Given the description of an element on the screen output the (x, y) to click on. 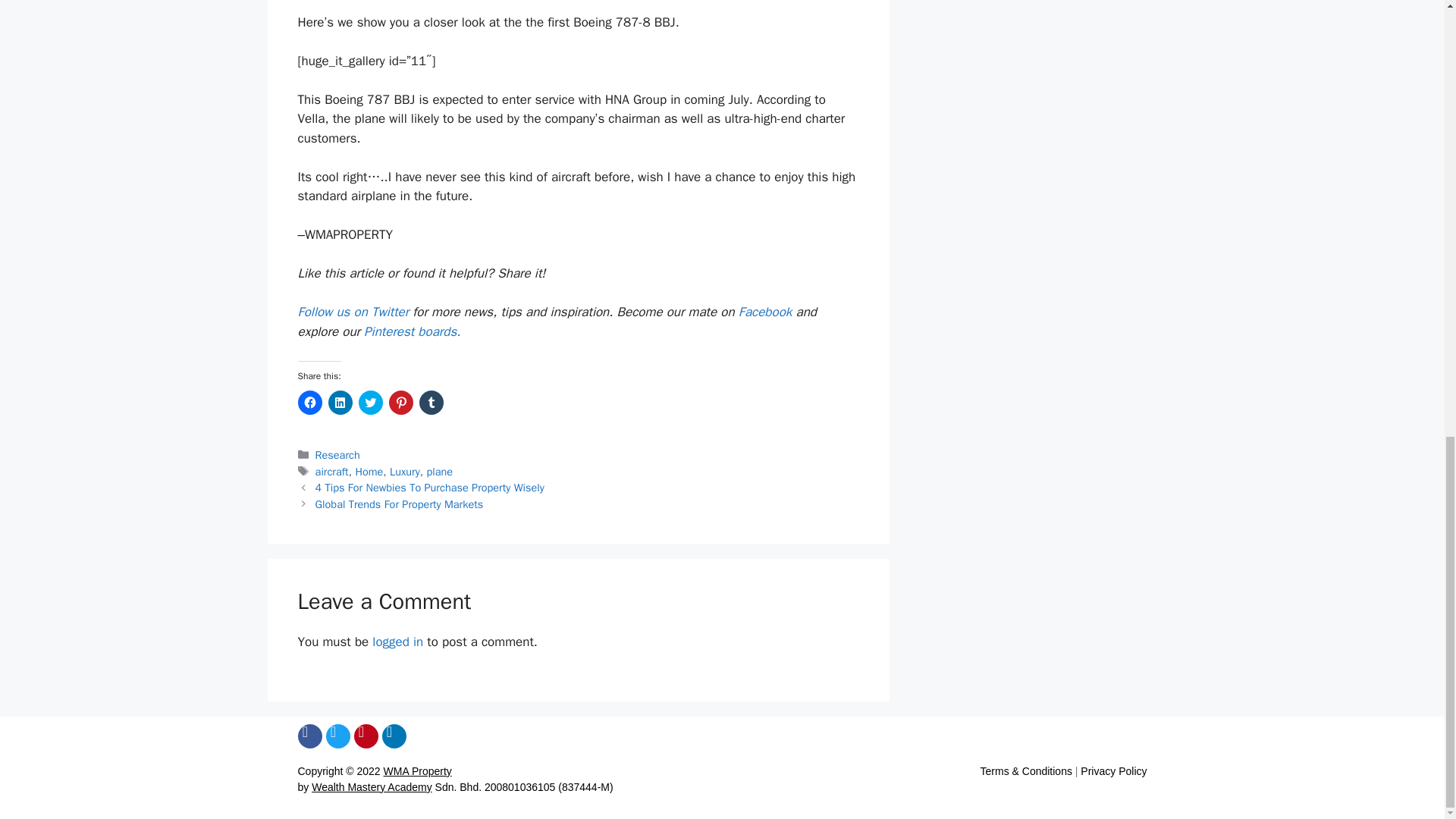
Click to share on Facebook (309, 402)
Click to share on Tumblr (430, 402)
Home (368, 471)
Click to share on Twitter (369, 402)
Follow us on Twitter (354, 311)
logged in (397, 641)
Luxury (405, 471)
4 Tips For Newbies To Purchase Property Wisely (429, 487)
Facebook (767, 311)
Pinterest boards. (412, 331)
